Given the description of an element on the screen output the (x, y) to click on. 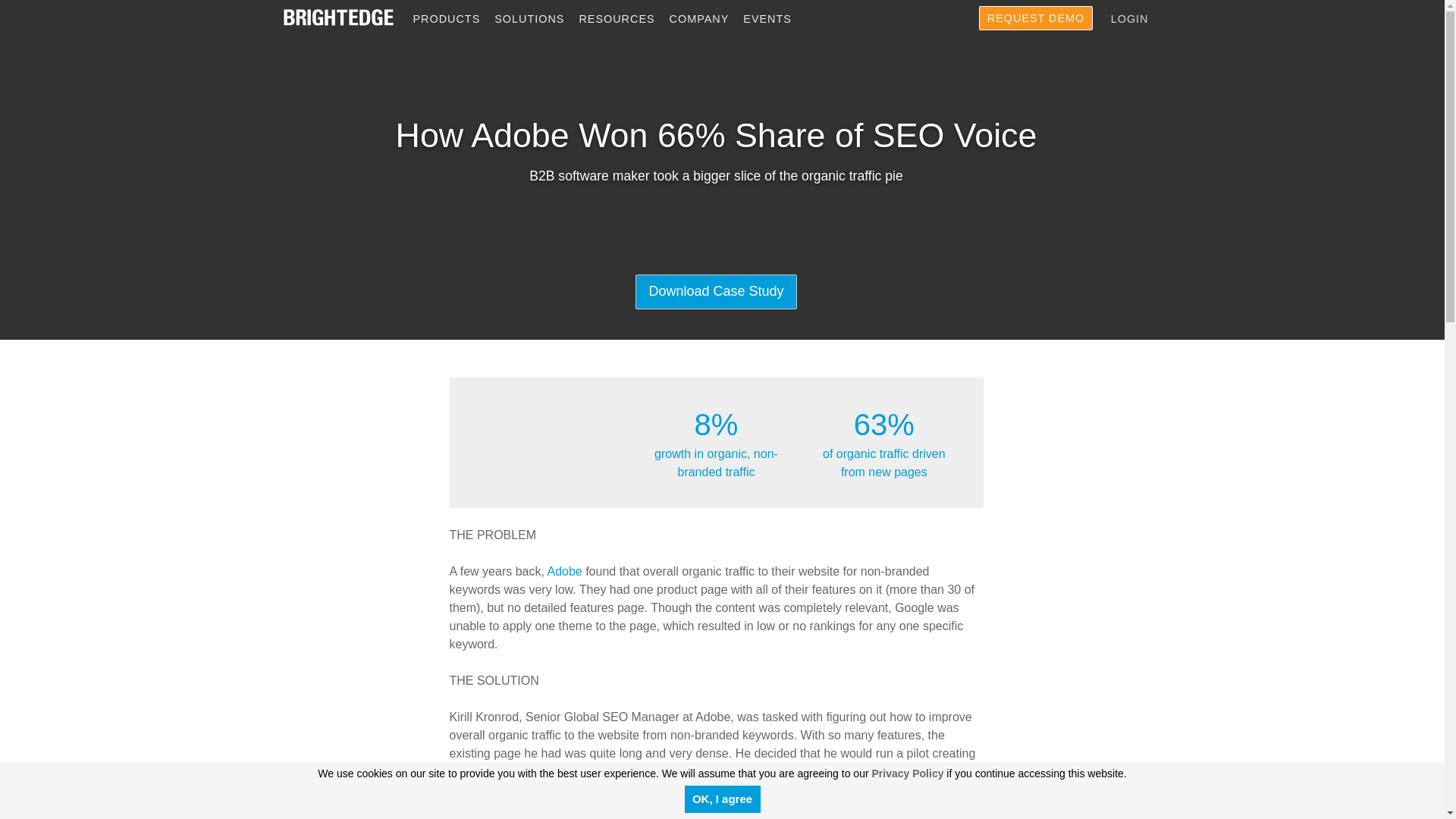
SOLUTIONS (535, 19)
Resources (623, 19)
RESOURCES (623, 19)
BrightEdge (337, 17)
Products (453, 19)
PRODUCTS (453, 19)
